Given the description of an element on the screen output the (x, y) to click on. 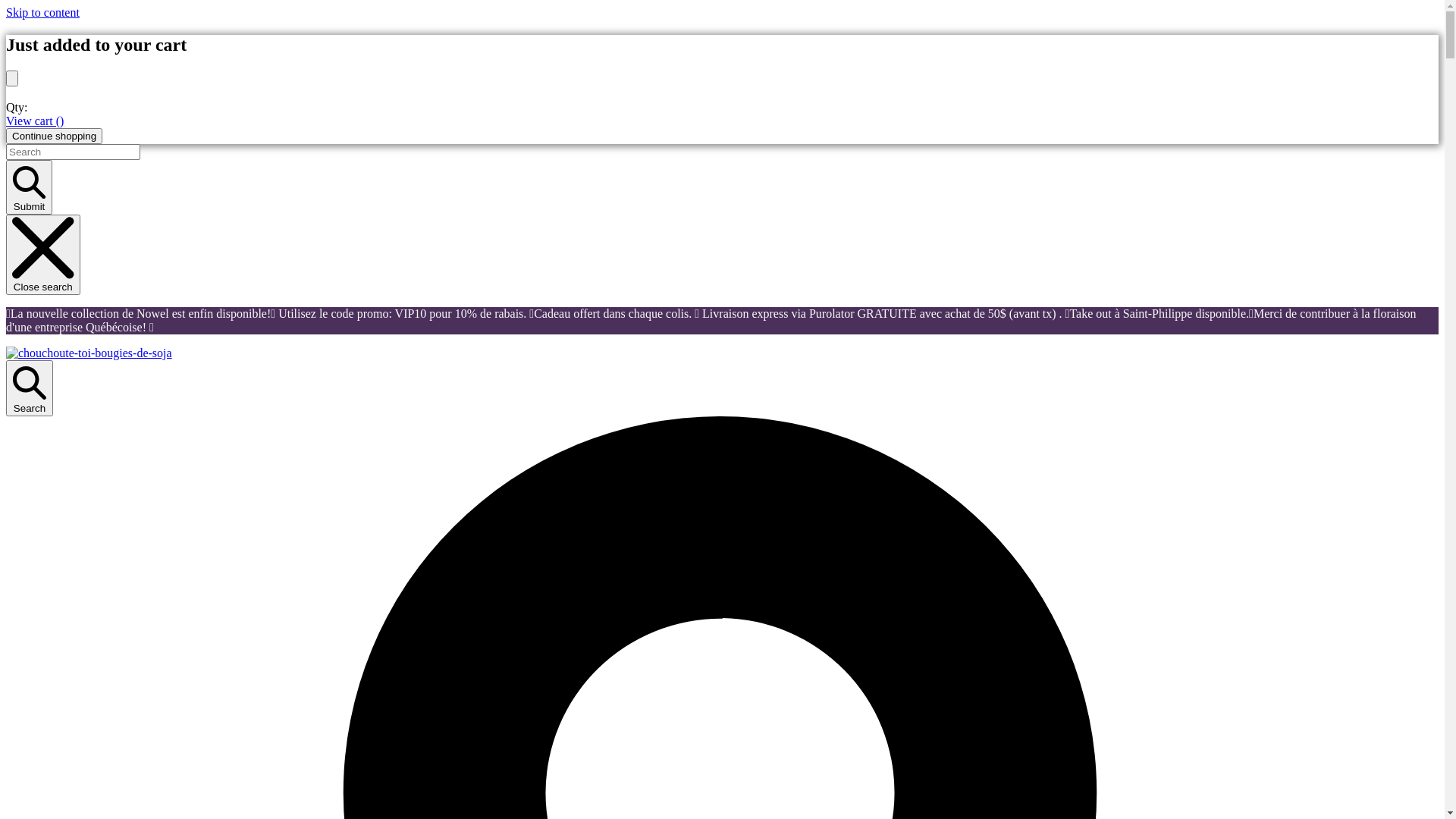
Search Element type: text (29, 388)
Skip to content Element type: text (42, 12)
Close search Element type: text (43, 254)
View cart () Element type: text (34, 120)
Submit Element type: text (29, 187)
Continue shopping Element type: text (54, 136)
